Given the description of an element on the screen output the (x, y) to click on. 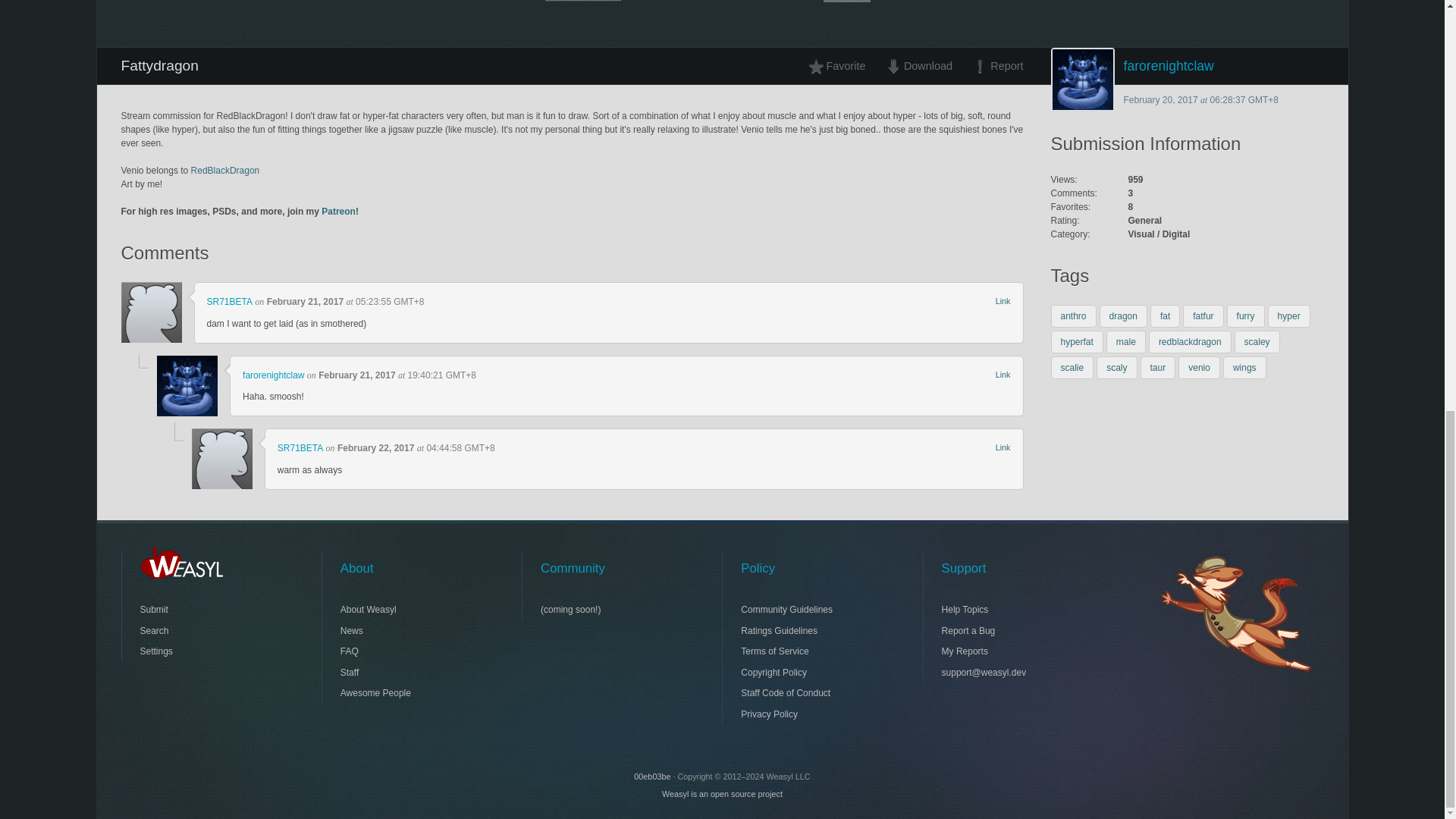
dragon (1123, 315)
furry (1246, 315)
farorenightclaw (1187, 65)
Report (993, 65)
male (1125, 341)
anthro (1073, 315)
scaley (1256, 341)
fatfur (1202, 315)
scaly (1116, 367)
RedBlackDragon (225, 170)
